Given the description of an element on the screen output the (x, y) to click on. 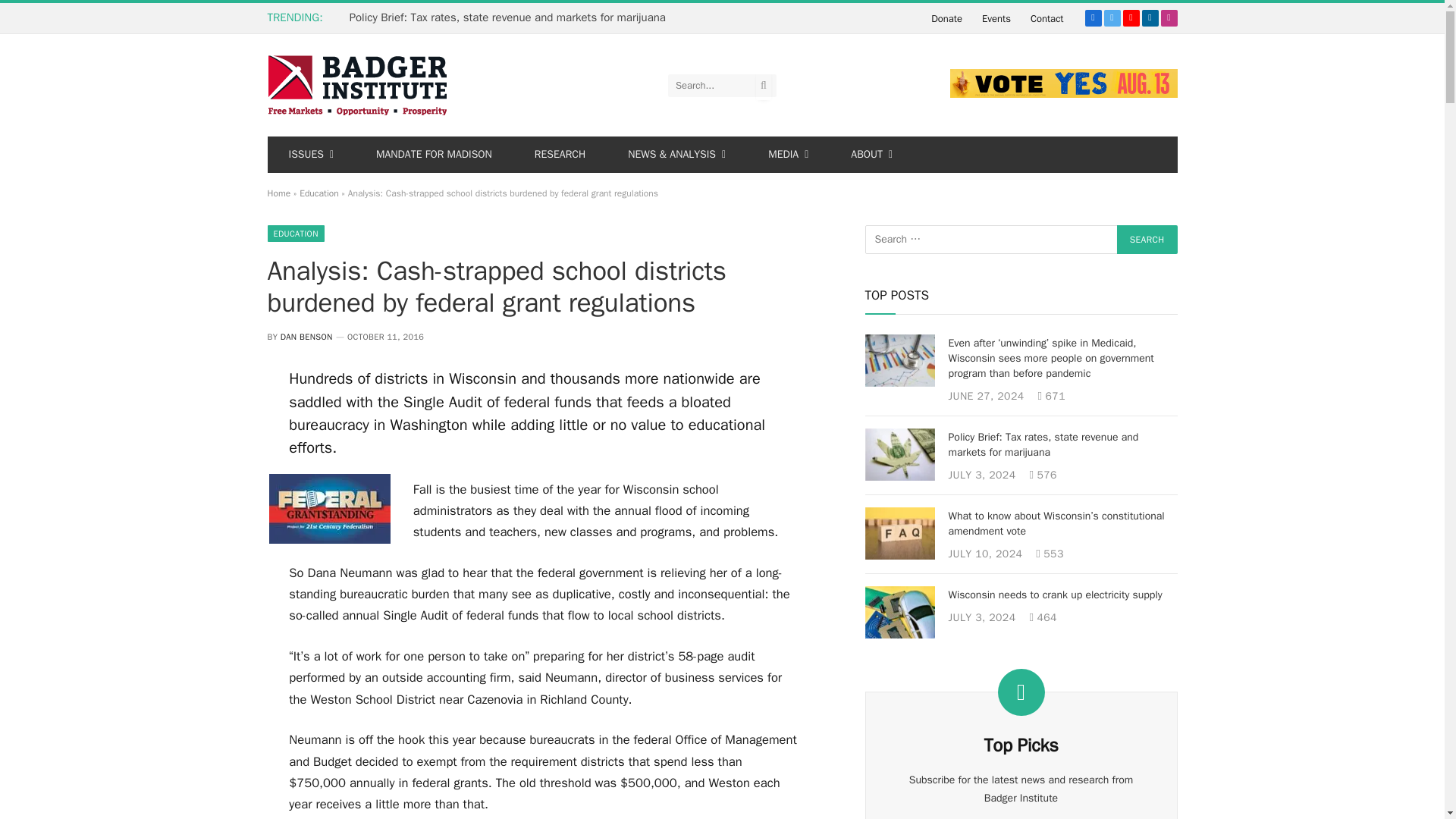
Badger Institute (355, 84)
Search (1146, 239)
Posts by Dan Benson (307, 336)
Search (1146, 239)
